Given the description of an element on the screen output the (x, y) to click on. 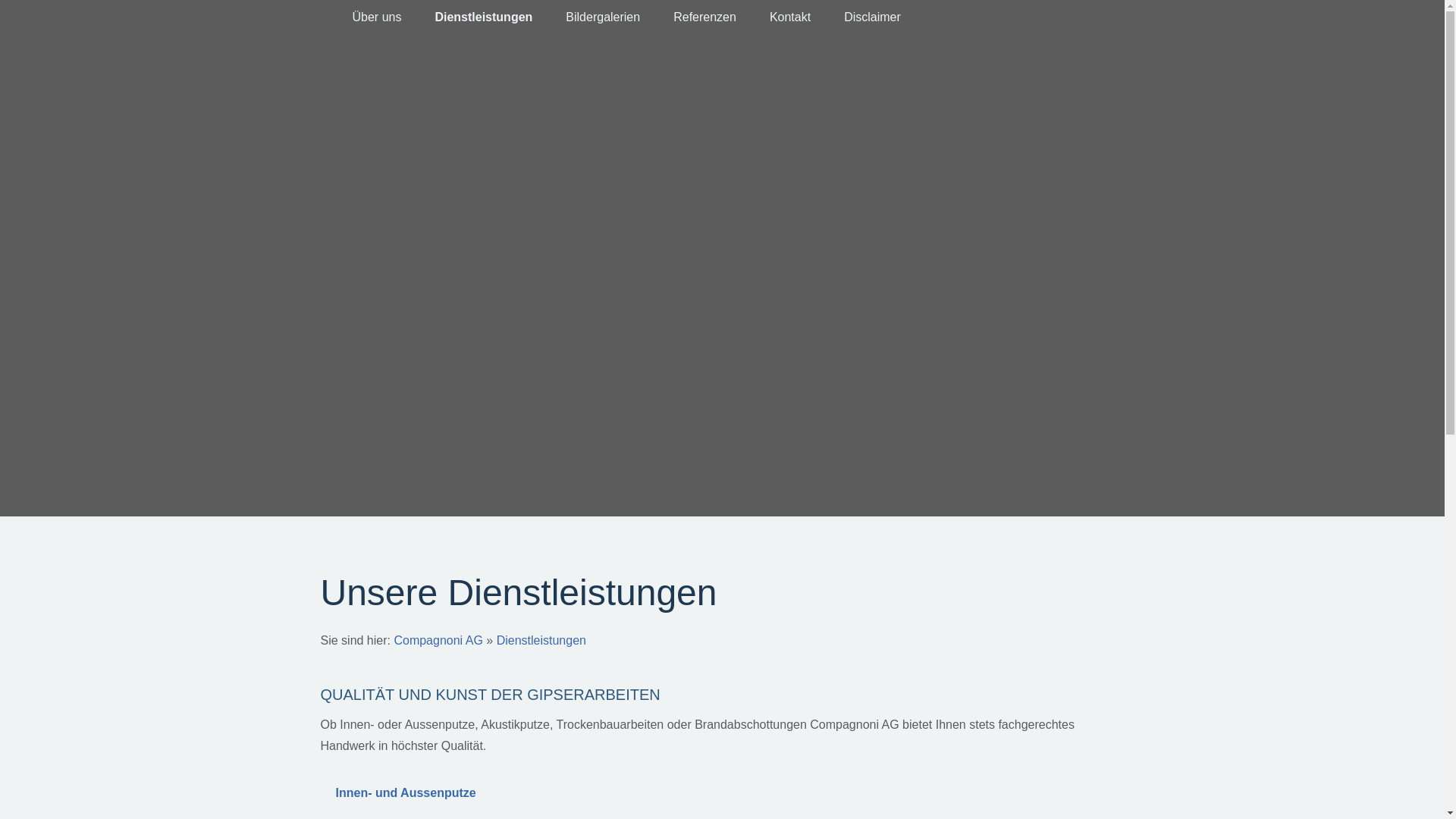
Dienstleistungen Element type: text (541, 639)
Bildergalerien Element type: text (602, 17)
Referenzen Element type: text (704, 17)
Disclaimer Element type: text (872, 17)
Dienstleistungen Element type: text (483, 17)
Compagnoni AG Element type: text (437, 639)
Innen- und Aussenputze Element type: text (721, 793)
Kontakt Element type: text (790, 17)
